Given the description of an element on the screen output the (x, y) to click on. 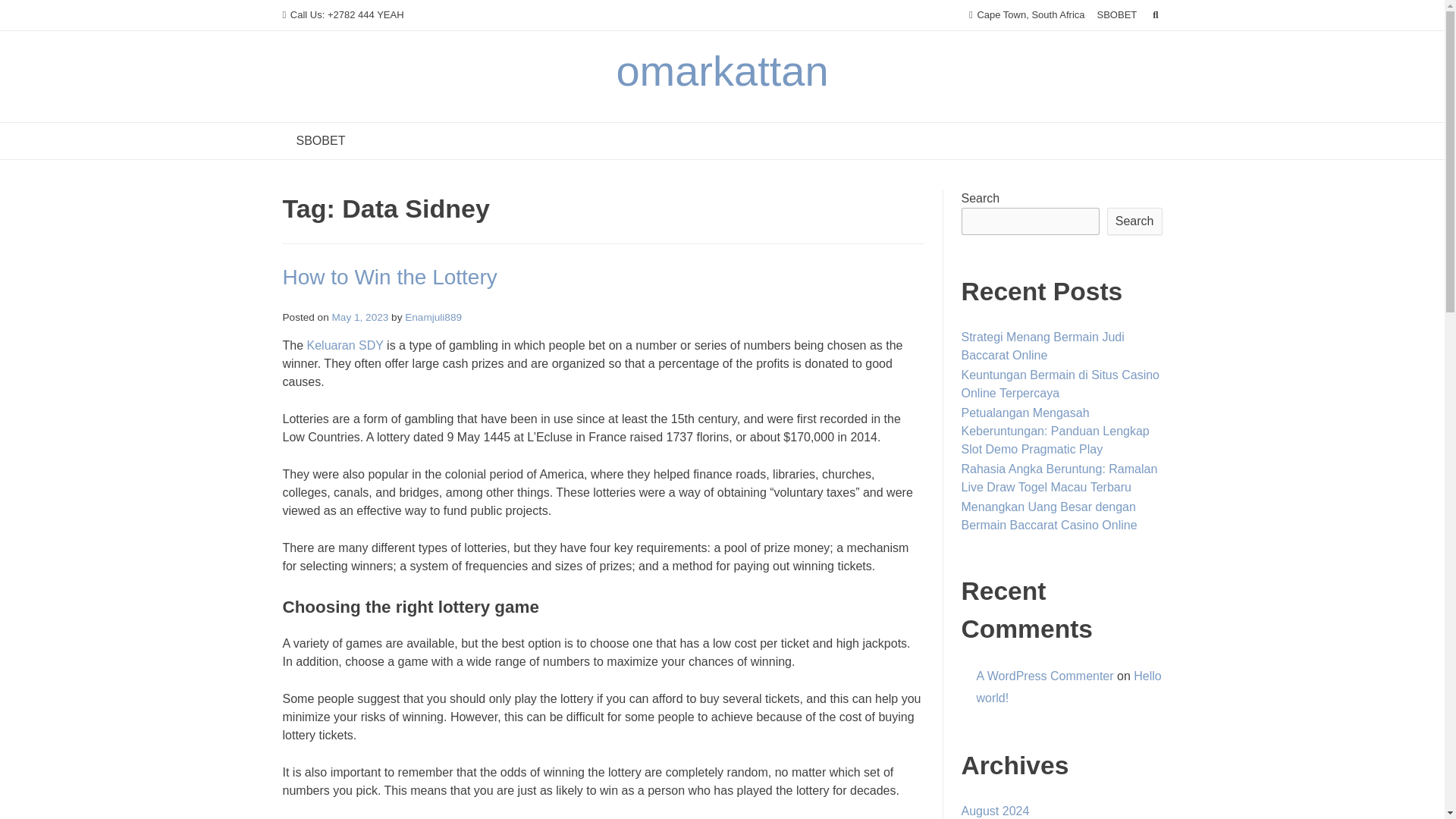
How to Win the Lottery (389, 277)
omarkattan (721, 70)
Keluaran SDY (345, 345)
SBOBET (320, 140)
Search (27, 13)
SBOBET (1117, 14)
May 1, 2023 (359, 317)
Enamjuli889 (432, 317)
